Given the description of an element on the screen output the (x, y) to click on. 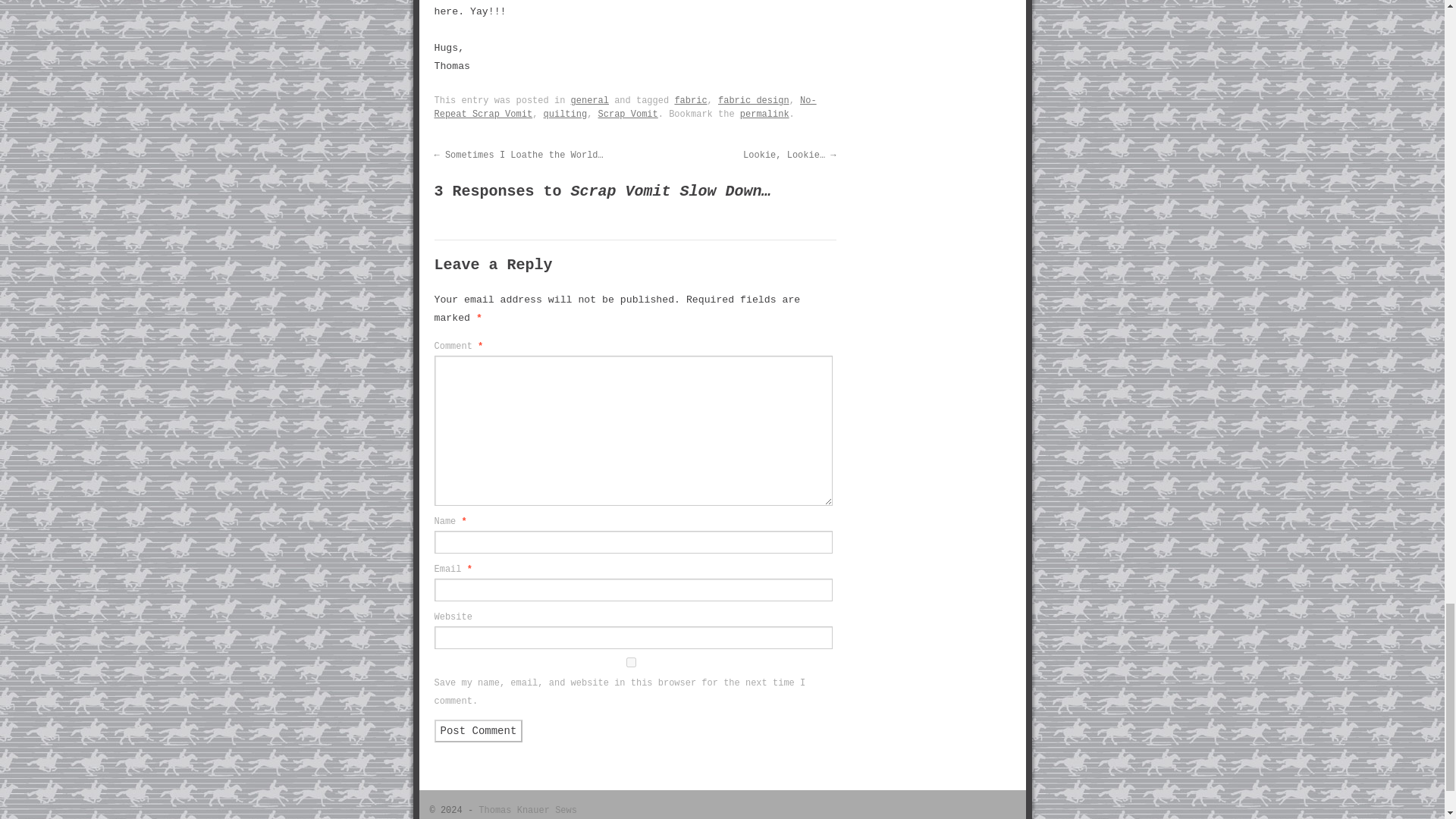
fabric design (753, 100)
fabric (690, 100)
general (589, 100)
No-Repeat Scrap Vomit (624, 107)
Thomas Knauer Sews (527, 810)
yes (630, 662)
Thomas Knauer Sews (527, 810)
quilting (565, 113)
permalink (764, 113)
Post Comment (477, 730)
